Given the description of an element on the screen output the (x, y) to click on. 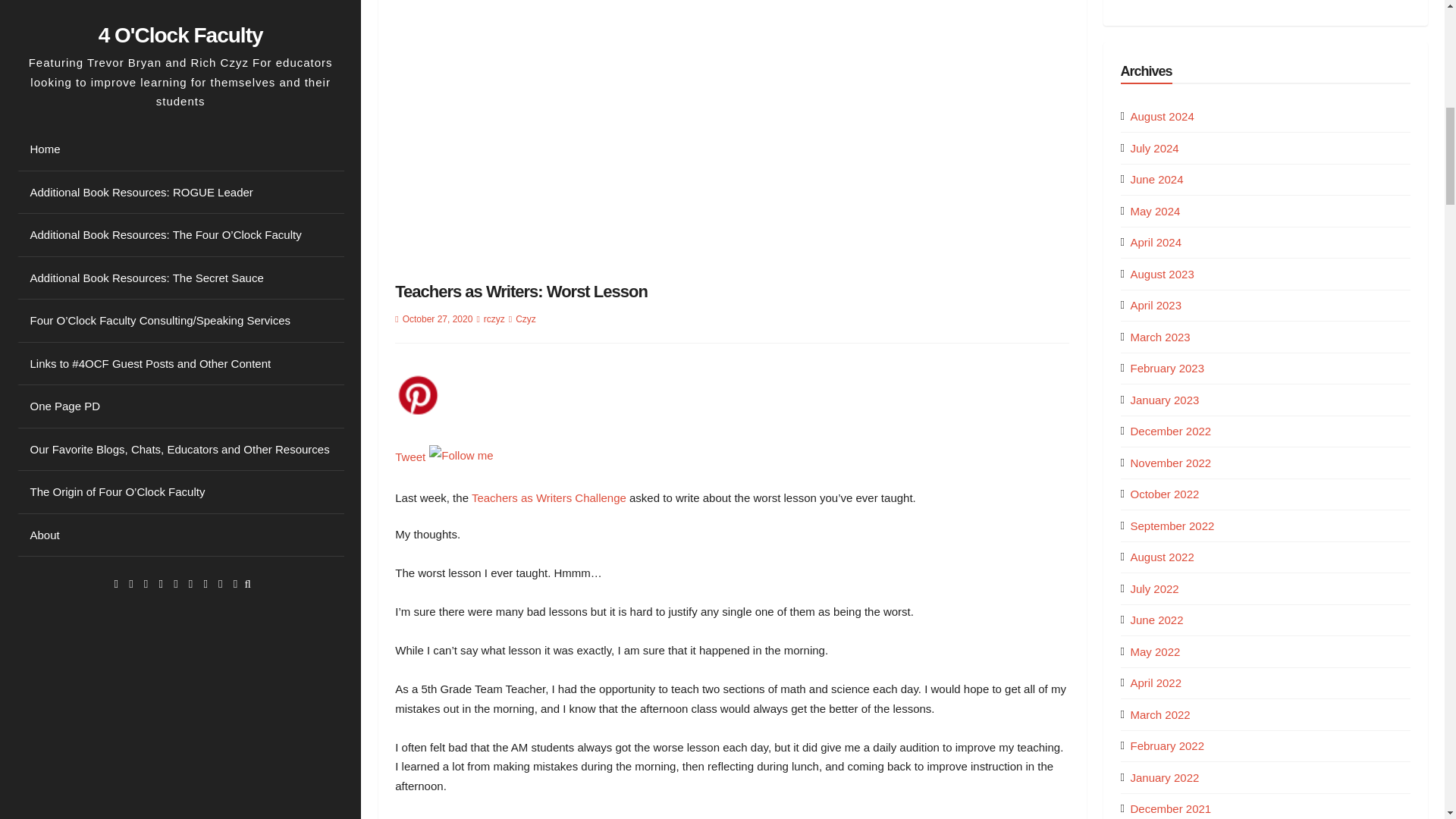
Follow me (461, 454)
rczyz (494, 318)
Teachers as Writers Challenge (548, 497)
Teachers as Writers: Worst Lesson (520, 291)
Tweet (409, 456)
Czyz (525, 318)
